Given the description of an element on the screen output the (x, y) to click on. 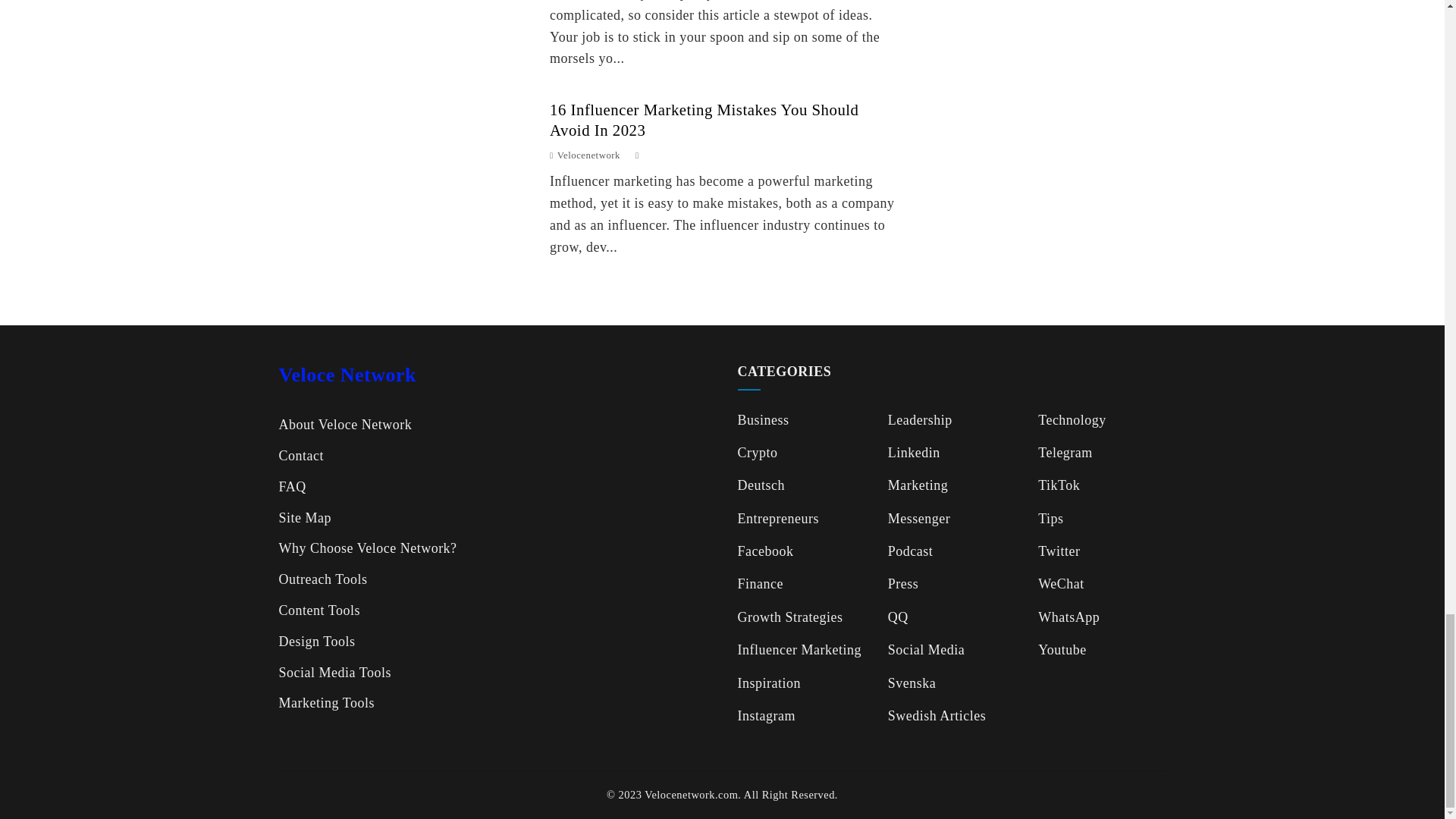
16 Influencer Marketing Mistakes You Should Avoid in 2023 (704, 119)
